Given the description of an element on the screen output the (x, y) to click on. 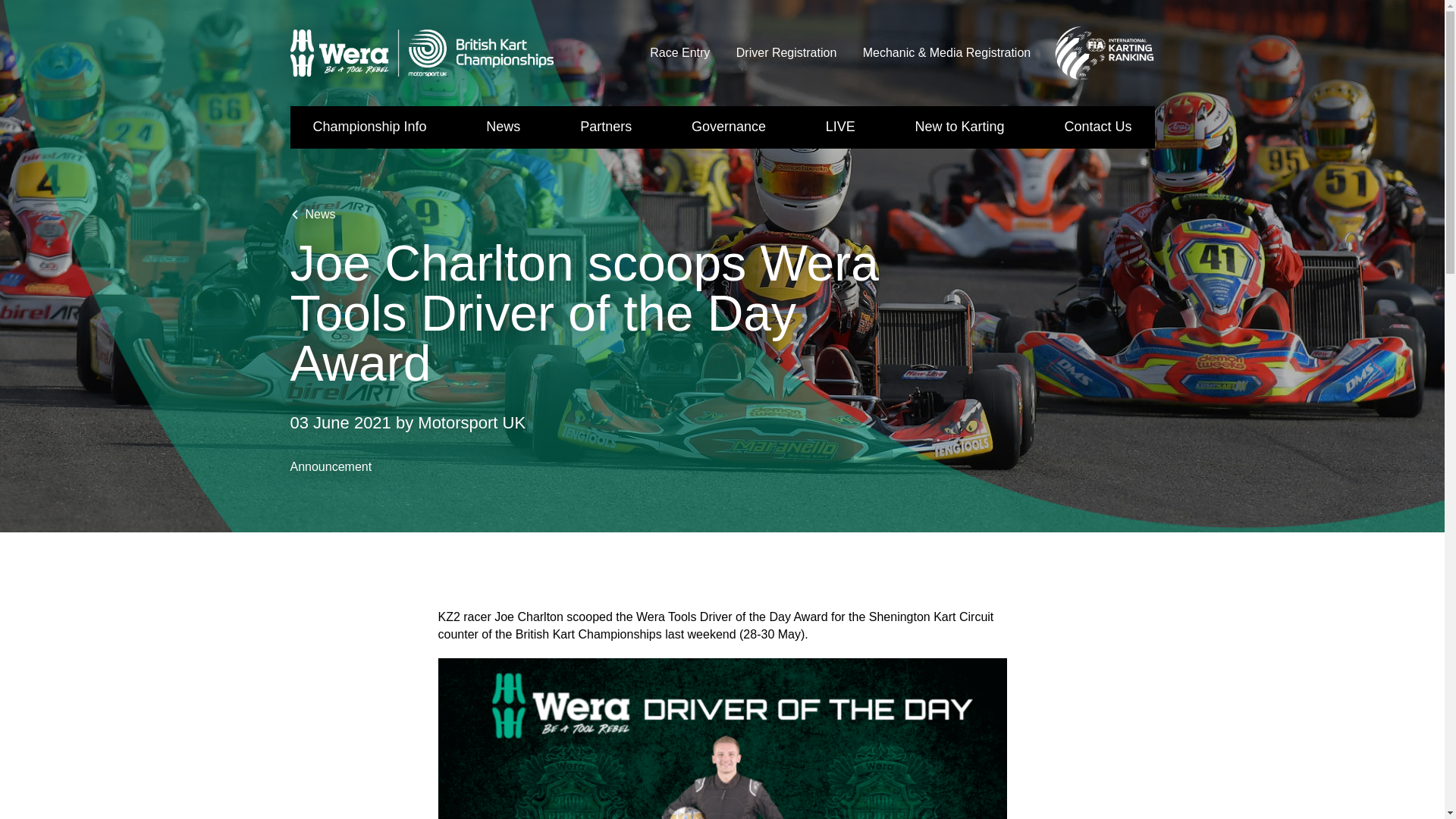
New to Karting (959, 127)
Governance (728, 127)
Driver Registration (785, 51)
Championship Info (368, 127)
LIVE (840, 127)
News (311, 213)
Race Entry (679, 51)
News (503, 127)
Announcement (330, 466)
Contact Us (1097, 127)
FIA Logo (1103, 52)
Motorsport UK (421, 52)
Partners (605, 127)
